Given the description of an element on the screen output the (x, y) to click on. 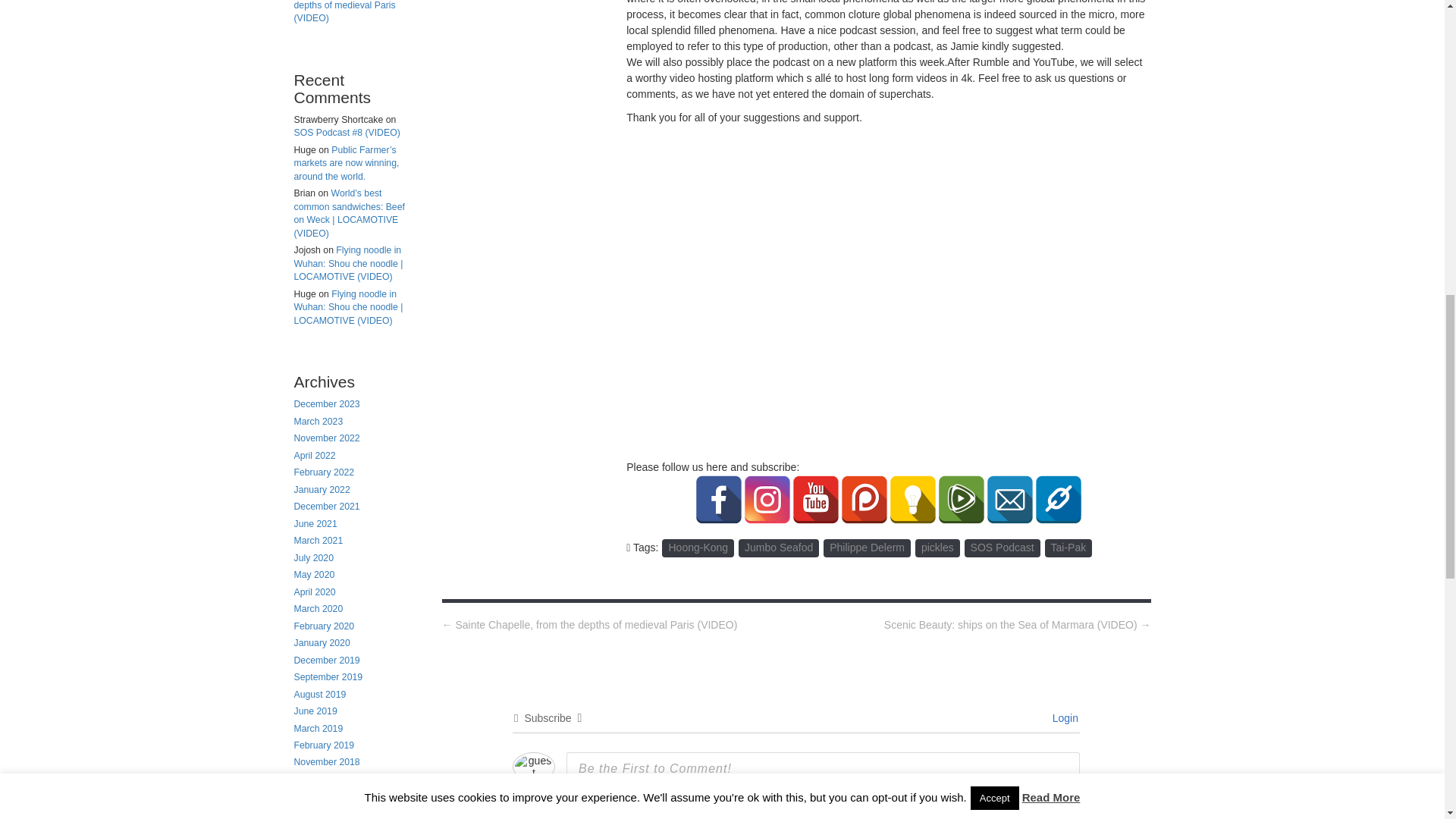
SOS Podcast (1002, 547)
Personal website (1058, 499)
YouTube (816, 499)
Instagram (767, 499)
Rumble (961, 499)
Italic (602, 813)
Philippe Delerm (867, 547)
Minds (912, 499)
Tai-Pak (1069, 547)
Jumbo Seafod (778, 547)
Facebook (718, 499)
Hoong-Kong (697, 547)
Email (1009, 499)
Patreon (864, 499)
pickles (937, 547)
